Given the description of an element on the screen output the (x, y) to click on. 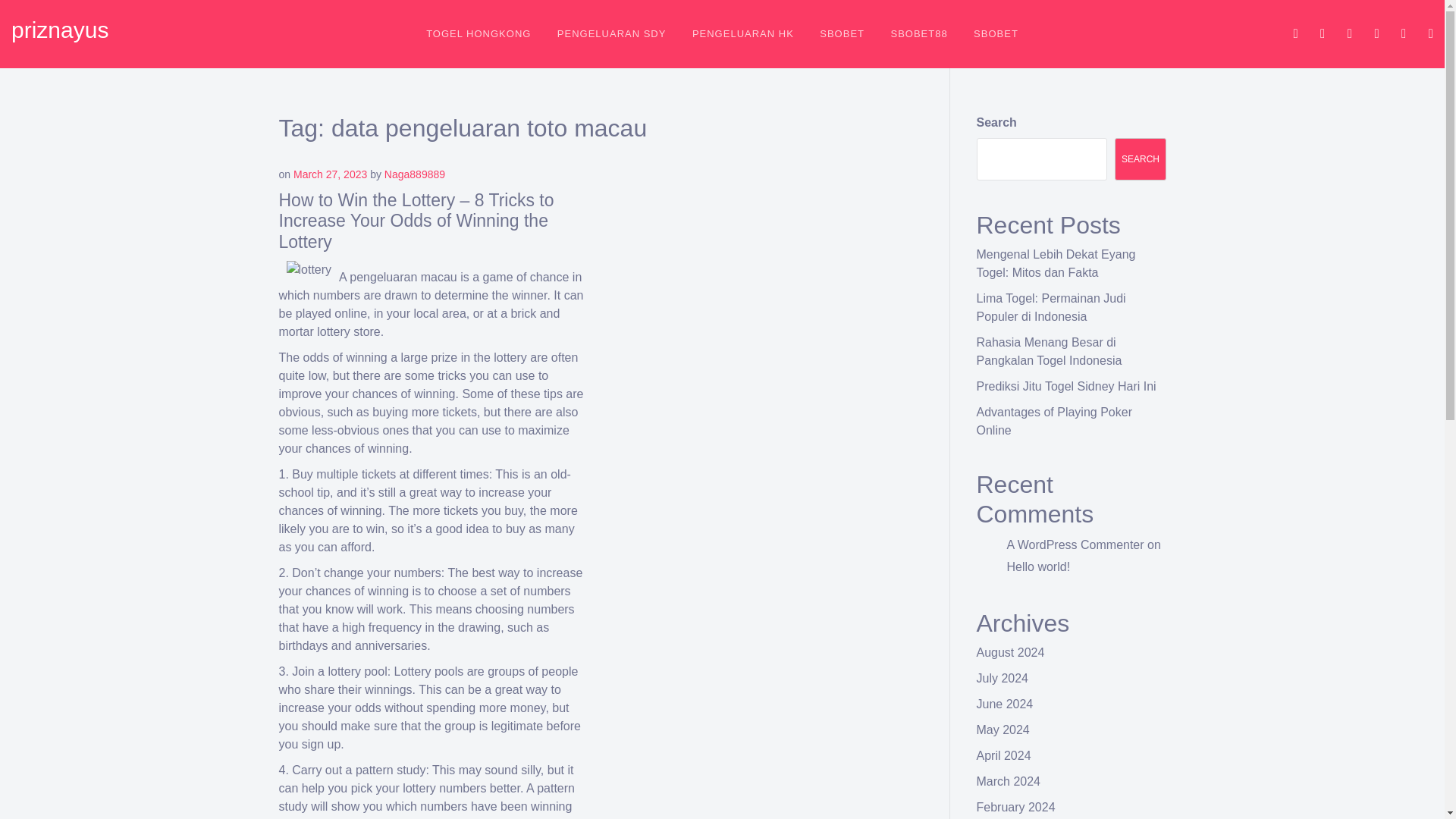
TOGEL HONGKONG (477, 33)
August 2024 (1010, 652)
A WordPress Commenter (1075, 544)
priznayus (59, 29)
Prediksi Jitu Togel Sidney Hari Ini (1066, 386)
pengeluaran macau (403, 277)
SBOBET (995, 33)
March 27, 2023 (330, 174)
Rahasia Menang Besar di Pangkalan Togel Indonesia (1049, 350)
Lima Togel: Permainan Judi Populer di Indonesia (1050, 306)
